Given the description of an element on the screen output the (x, y) to click on. 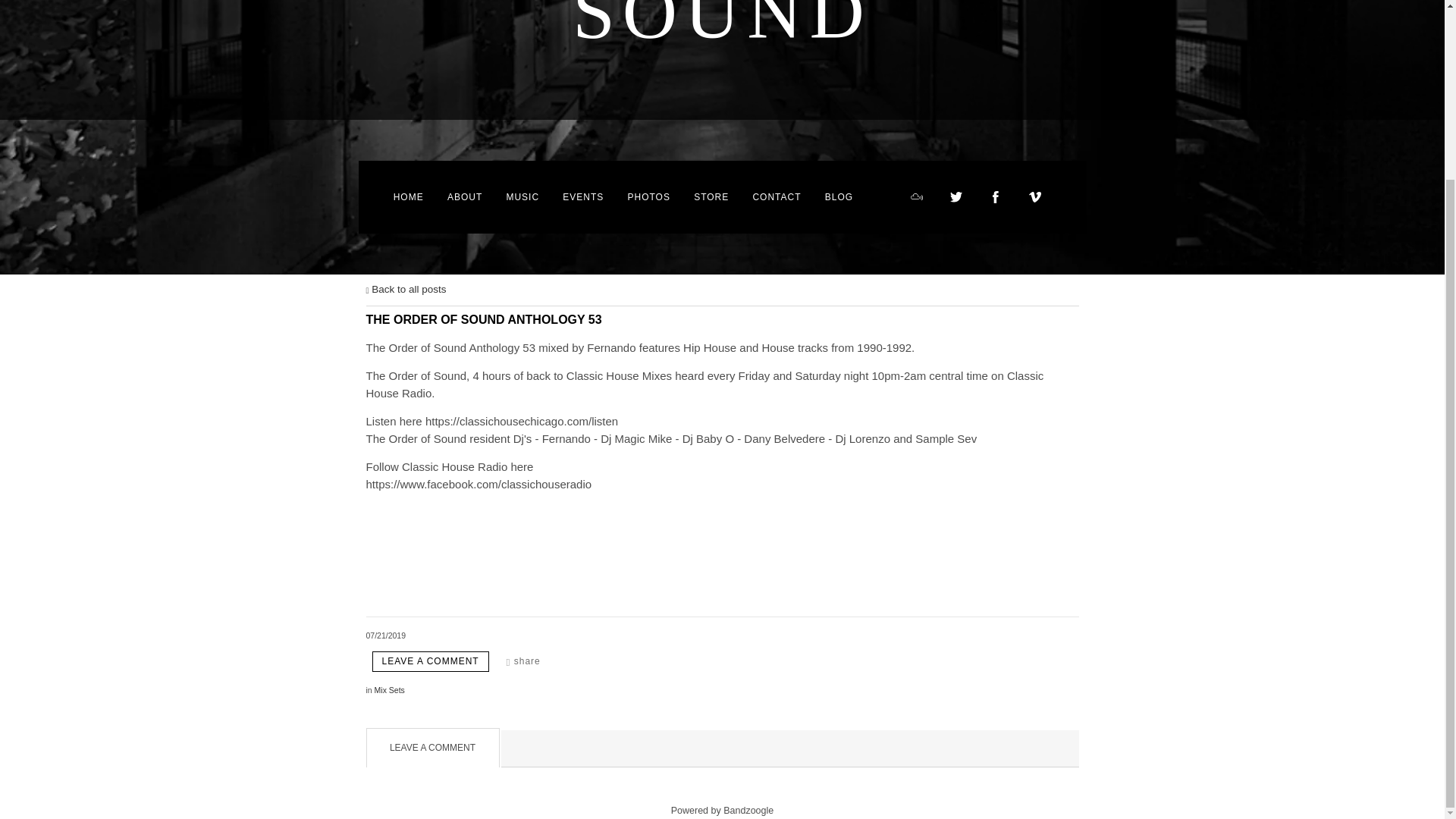
Powered by Bandzoogle (722, 810)
BLOG (839, 196)
HOME (408, 196)
Powered by Bandzoogle (722, 810)
July 21, 2019 15:47 (385, 634)
Leave a comment (429, 661)
PHOTOS (648, 196)
Mix Sets (389, 689)
Back to all posts (405, 288)
Share The Order of Sound Anthology 53 (523, 660)
